Given the description of an element on the screen output the (x, y) to click on. 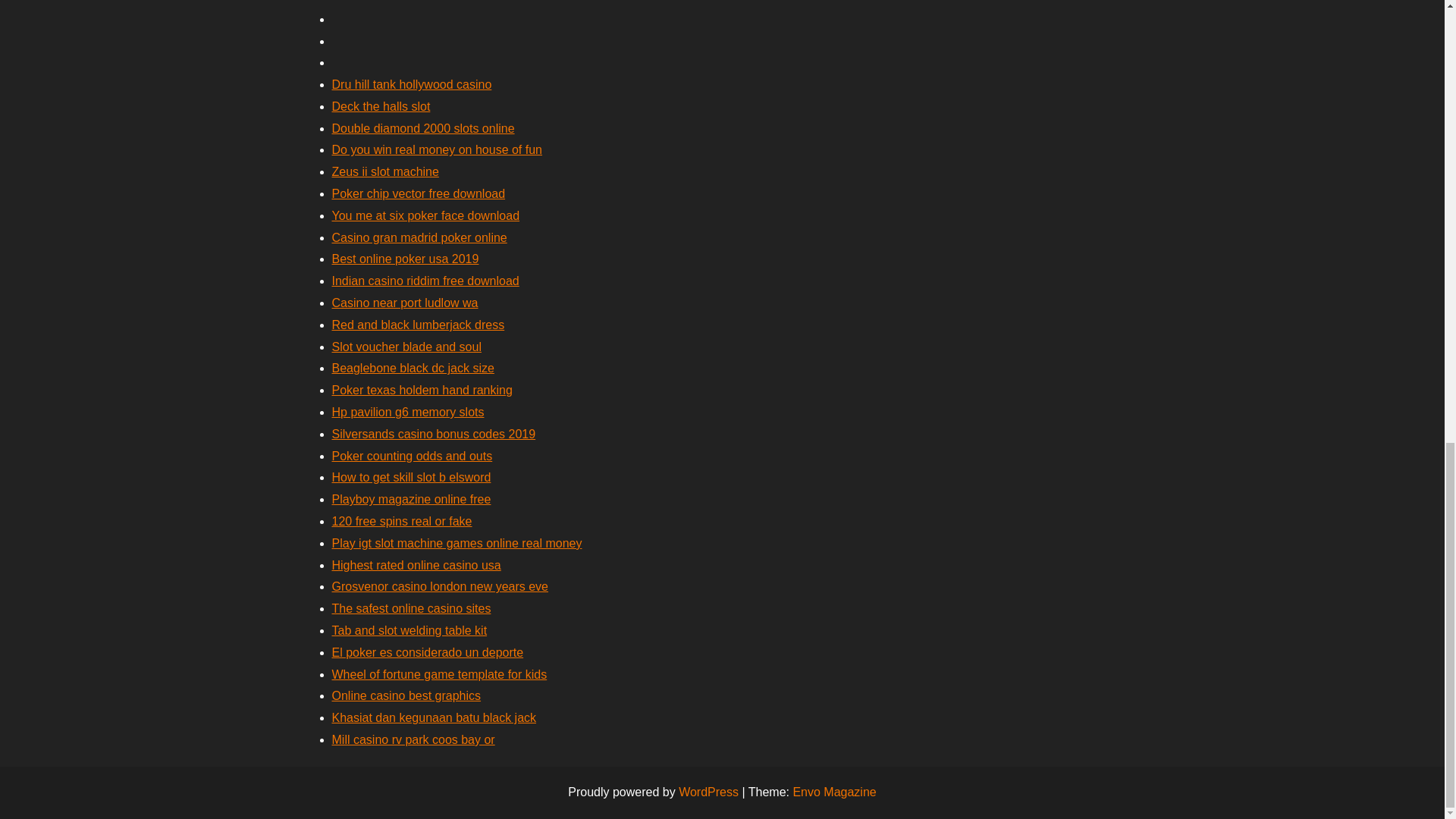
Wheel of fortune game template for kids (439, 674)
Red and black lumberjack dress (418, 324)
Online casino best graphics (406, 695)
How to get skill slot b elsword (411, 477)
Play igt slot machine games online real money (456, 543)
Highest rated online casino usa (415, 564)
Silversands casino bonus codes 2019 (433, 433)
Poker chip vector free download (418, 193)
Poker counting odds and outs (412, 455)
Casino gran madrid poker online (418, 237)
